Given the description of an element on the screen output the (x, y) to click on. 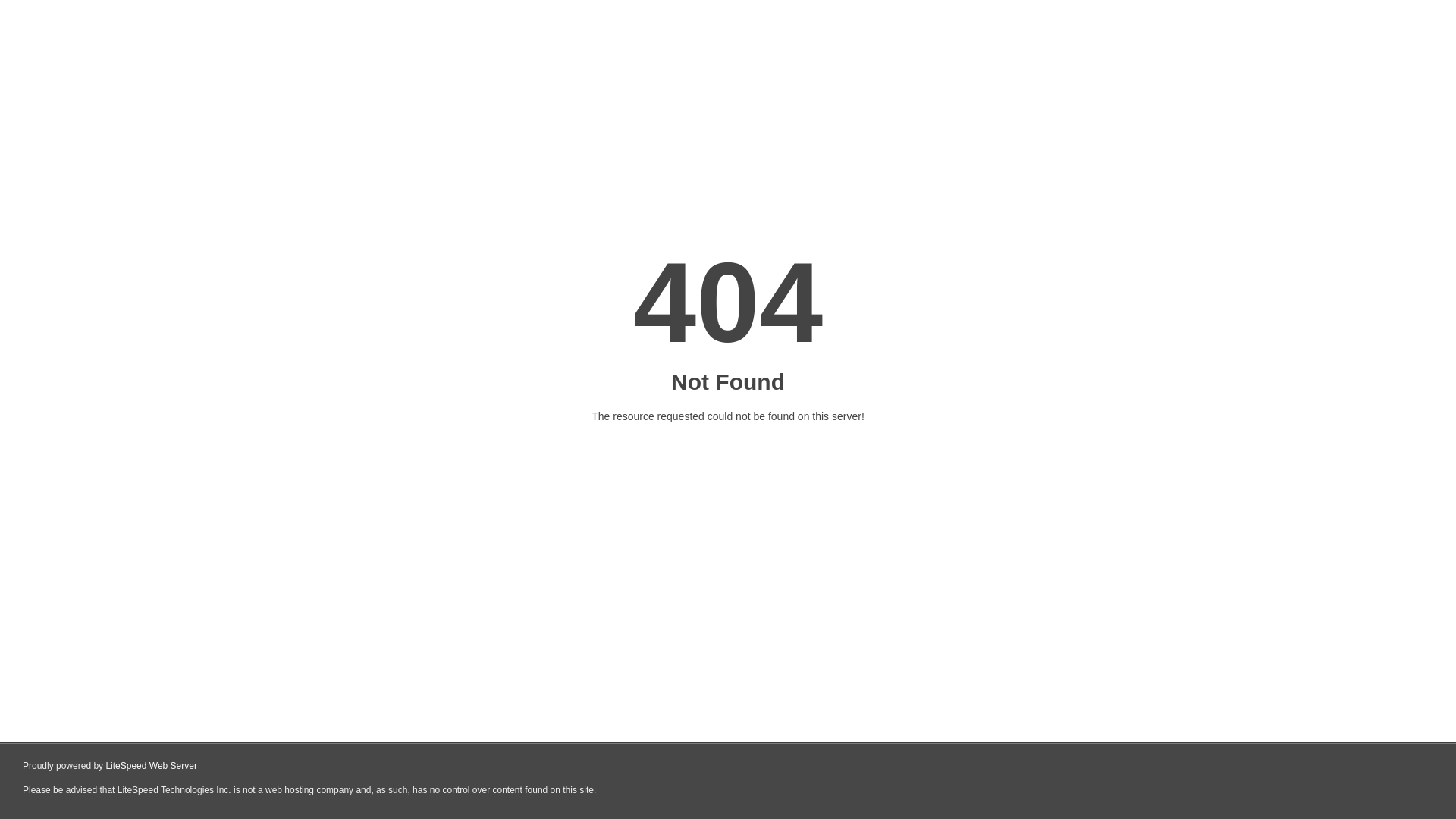
LiteSpeed Web Server Element type: text (151, 765)
